Given the description of an element on the screen output the (x, y) to click on. 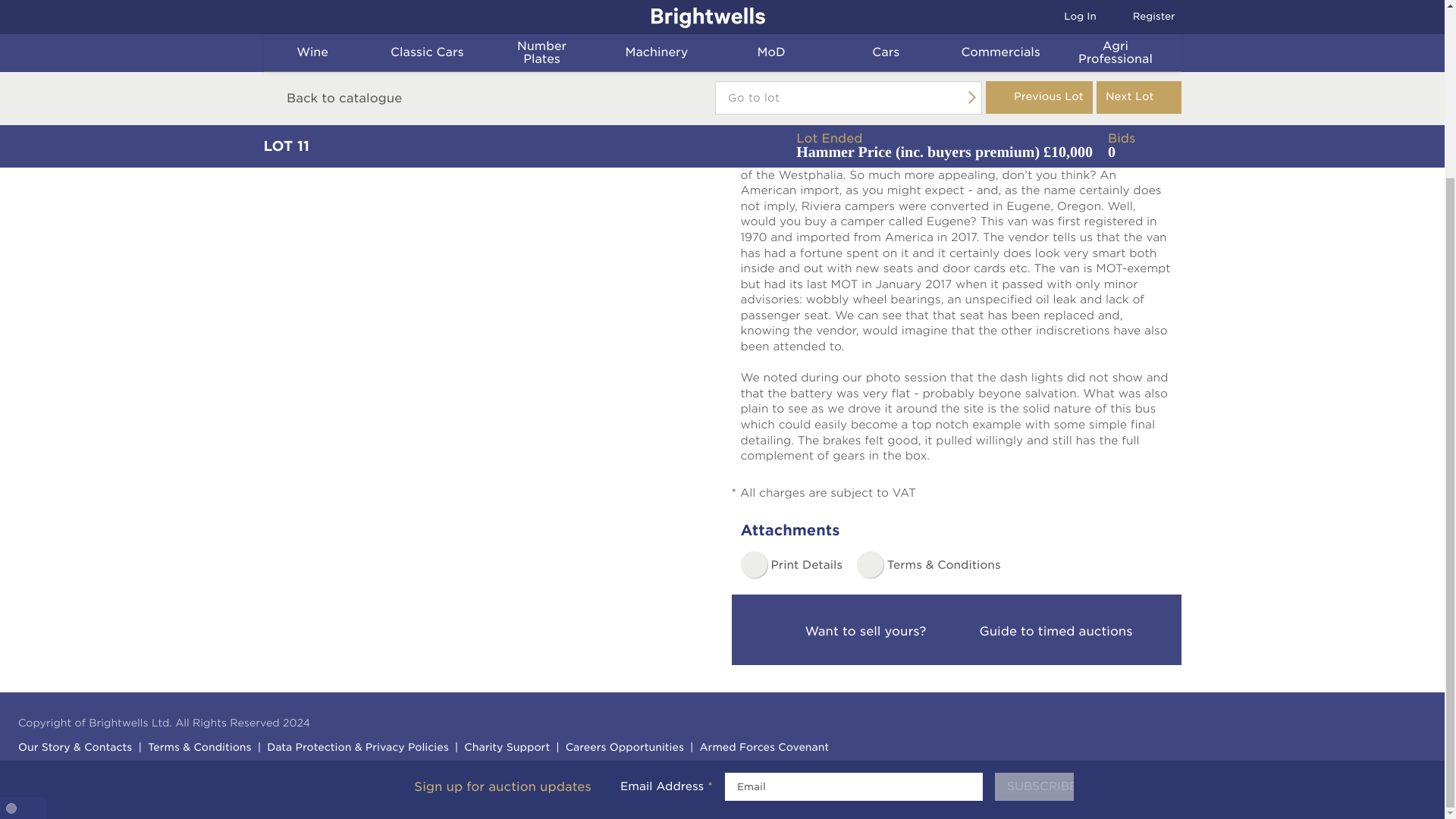
Subscribe (1034, 569)
Armed Forces Covenant (762, 749)
close icon (1424, 564)
mailing list icon (389, 570)
Print details (790, 564)
Charity Support (505, 749)
Careers Opportunities (623, 749)
